Given the description of an element on the screen output the (x, y) to click on. 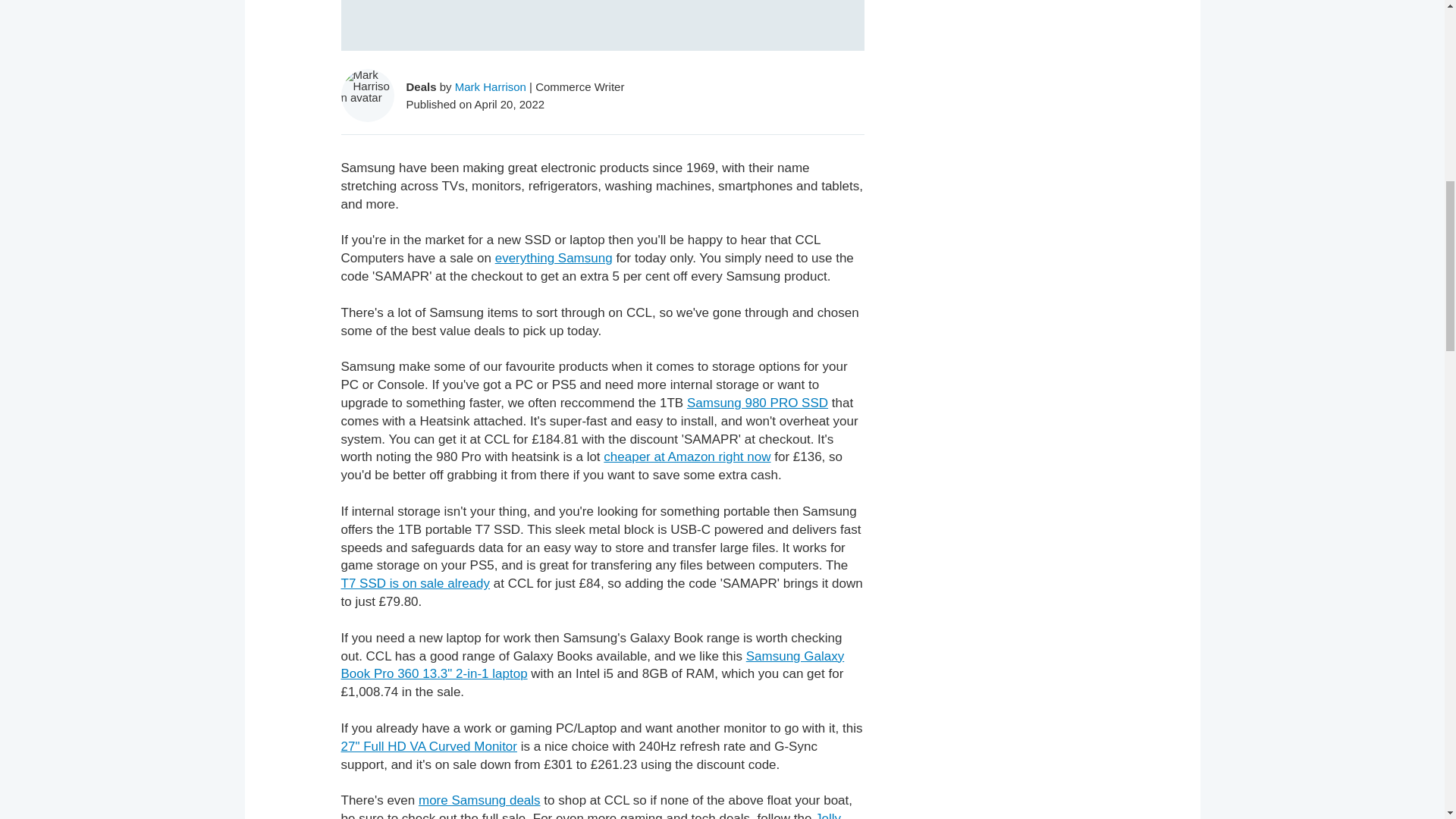
Mark Harrison (489, 86)
T7 SSD is on sale already (415, 583)
Jelly Deals Twitter (590, 815)
more Samsung deals (479, 800)
Samsung Galaxy Book Pro 360 13.3" 2-in-1 laptop (592, 665)
everything Samsung (553, 257)
cheaper at Amazon right now (687, 456)
27" Full HD VA Curved Monitor (428, 746)
Samsung 980 PRO SSD (757, 402)
